Given the description of an element on the screen output the (x, y) to click on. 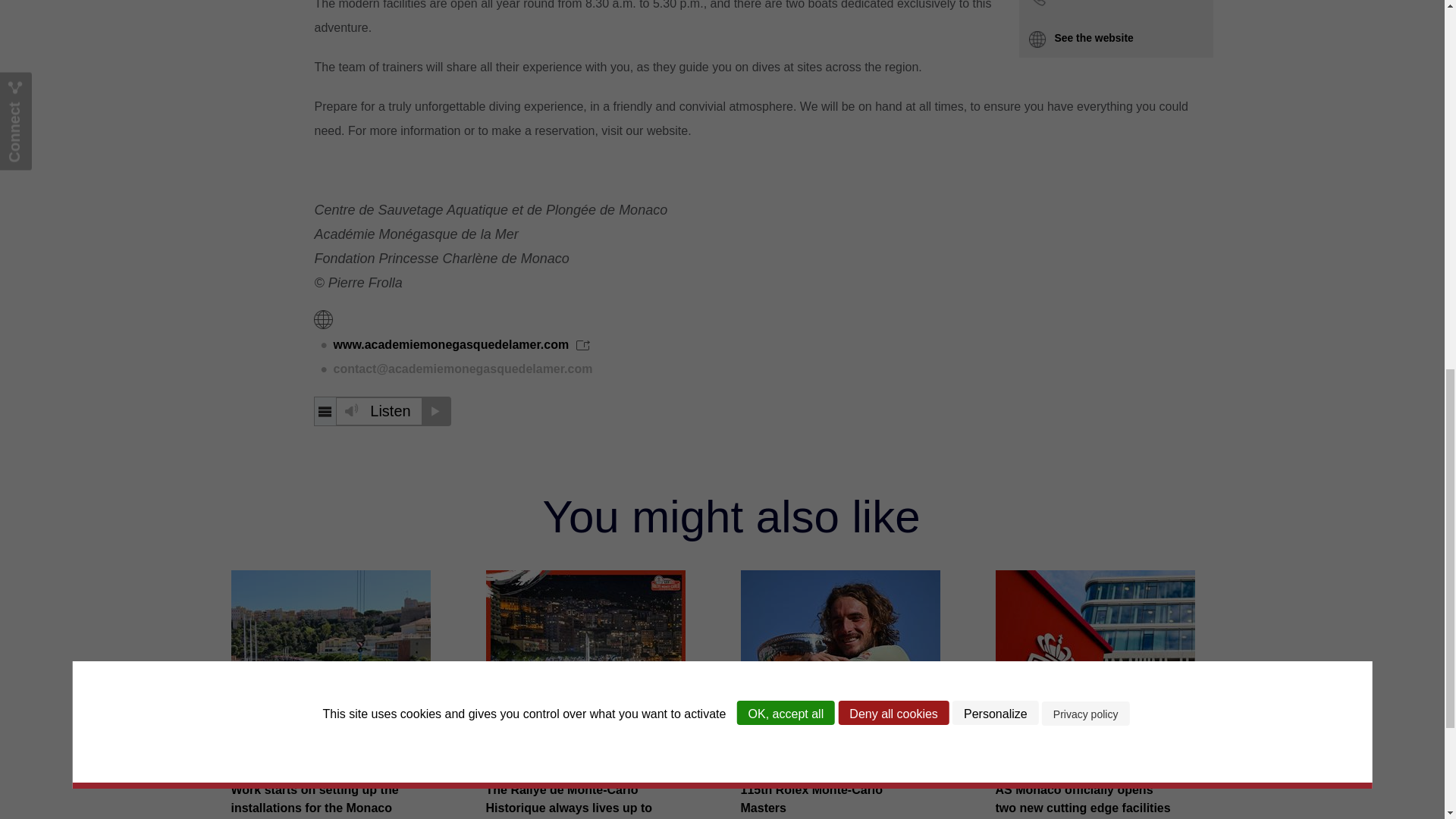
Listen with ReadSpeaker (381, 410)
